Given the description of an element on the screen output the (x, y) to click on. 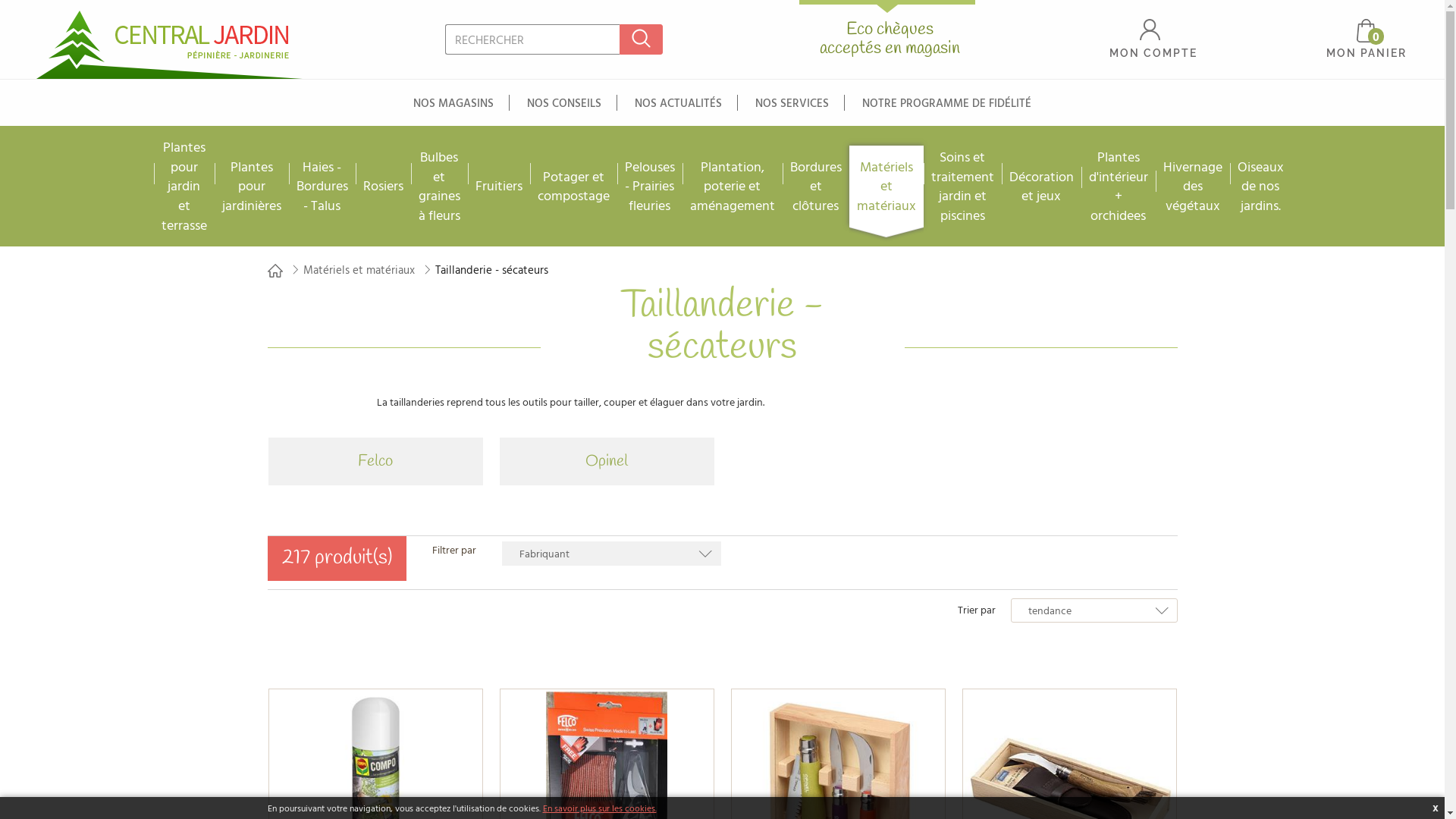
NOS SERVICES Element type: text (792, 102)
X Element type: text (1435, 807)
MON PANIER Element type: text (1366, 35)
tendance Element type: text (1093, 610)
Opinel Element type: text (606, 460)
NOS CONSEILS Element type: text (564, 102)
Haies - Bordures - Talus Element type: text (321, 185)
Fruitiers Element type: text (498, 185)
Oiseaux de nos jardins. Element type: text (1260, 185)
Rosiers Element type: text (382, 185)
MON COMPTE Element type: text (1153, 39)
Fabriquant Element type: text (611, 553)
Felco Element type: text (374, 460)
En savoir plus sur les cookies. Element type: text (599, 807)
NOS MAGASINS Element type: text (453, 102)
Soins et traitement jardin et piscines Element type: text (962, 185)
Pelouses - Prairies fleuries Element type: text (649, 185)
Potager et compostage Element type: text (572, 185)
Plantes pour jardin et terrasse Element type: text (183, 185)
